Given the description of an element on the screen output the (x, y) to click on. 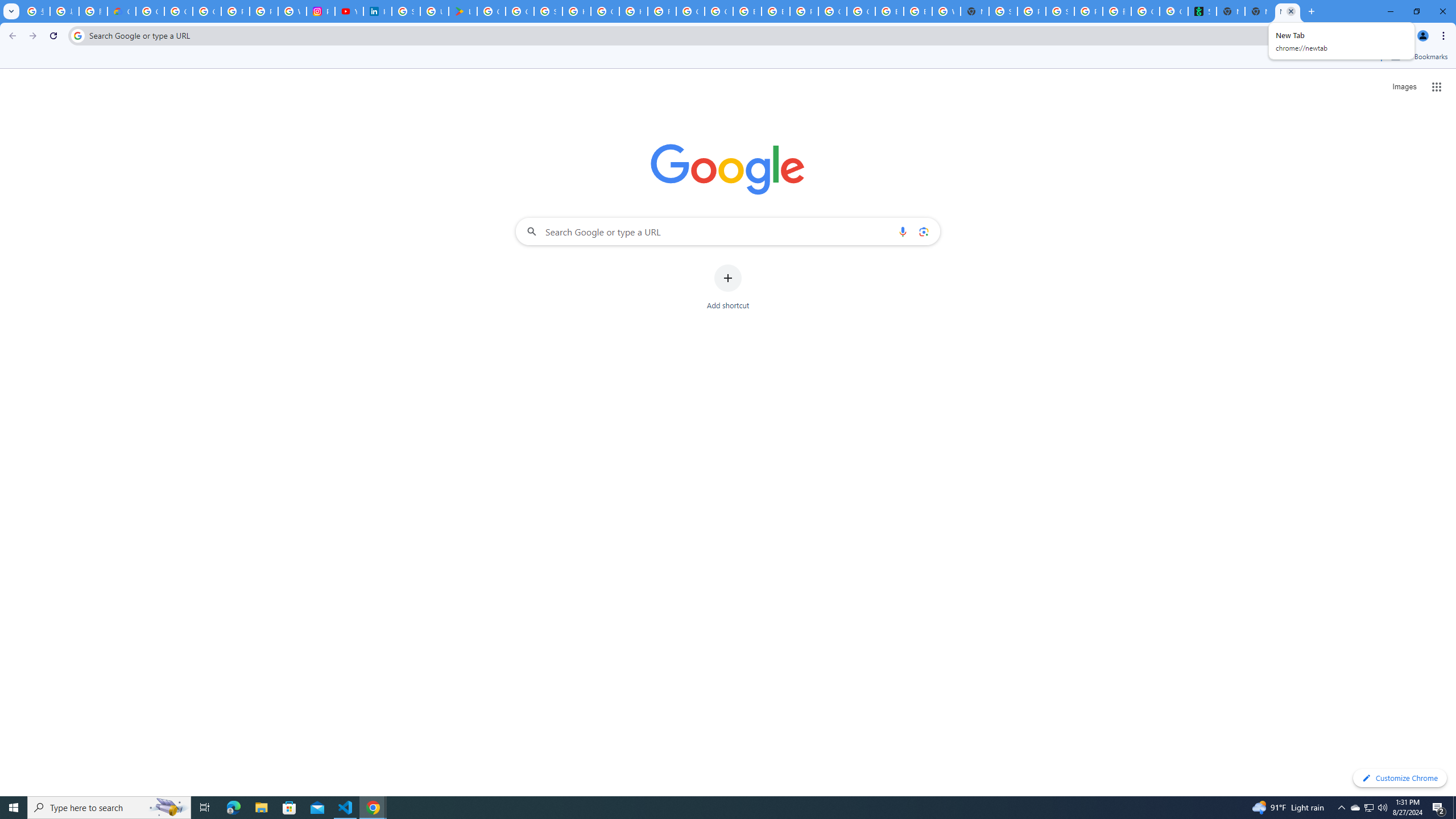
Back (10, 35)
All Bookmarks (1418, 56)
Browse Chrome as a guest - Computer - Google Chrome Help (889, 11)
